Given the description of an element on the screen output the (x, y) to click on. 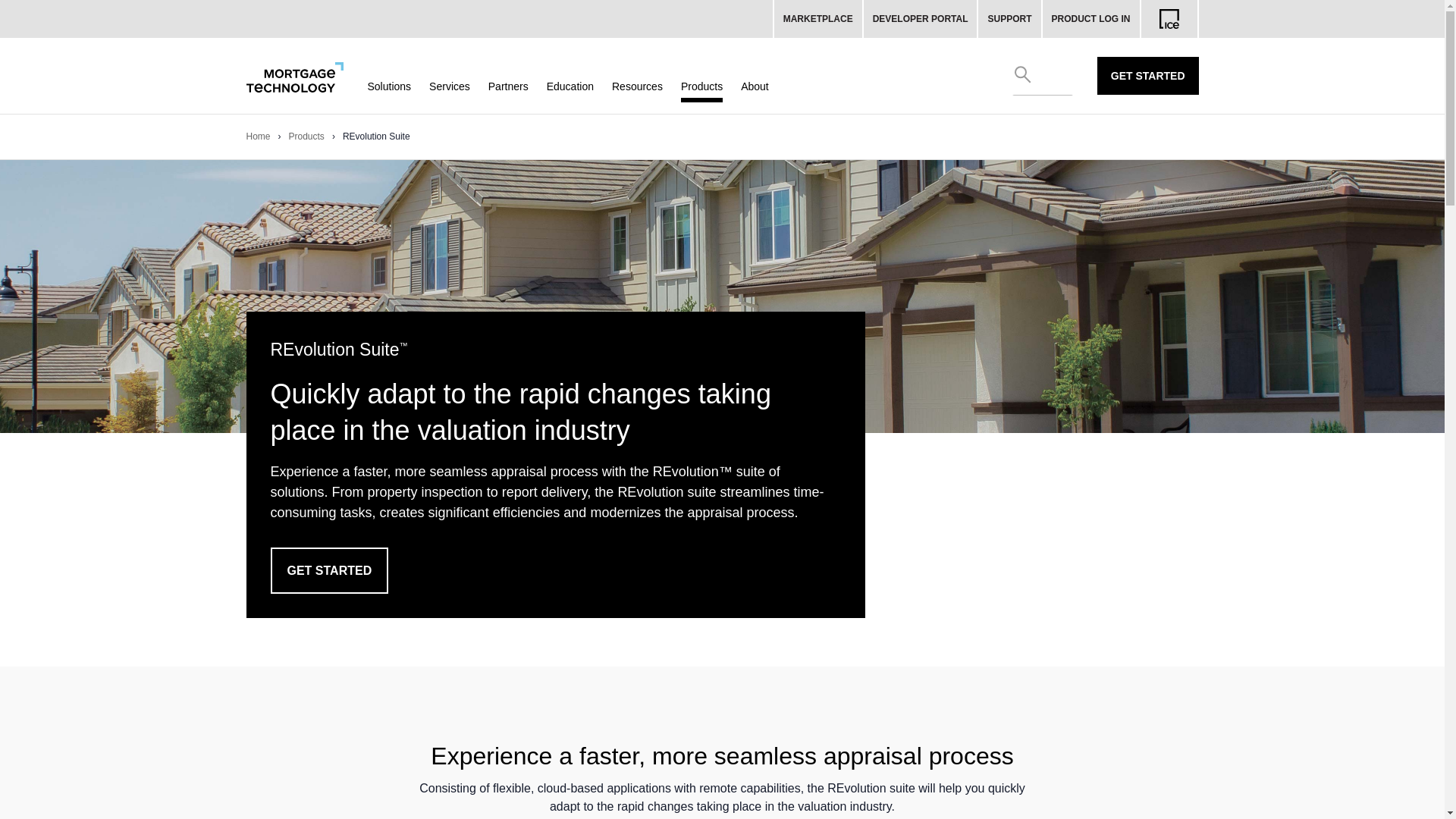
MARKETPLACE (818, 18)
Services (449, 86)
Solutions (388, 86)
PRODUCT LOG IN (1091, 18)
Partners (507, 86)
DEVELOPER PORTAL (920, 18)
SUPPORT (1010, 18)
